Given the description of an element on the screen output the (x, y) to click on. 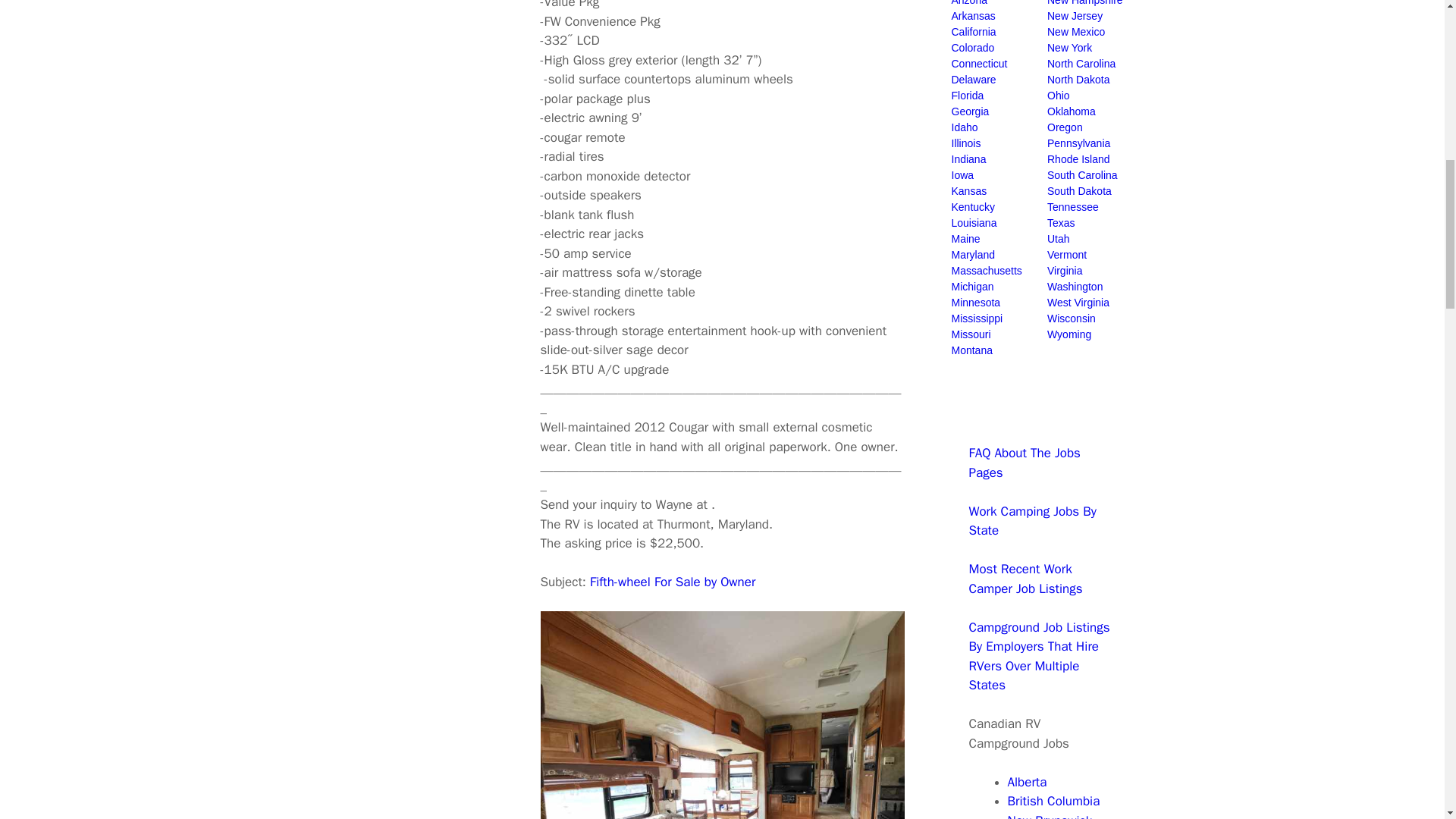
Fifth-wheel For Sale by Owner (672, 581)
2012 Keystone Cougar High Country 291 RLS Living Area (722, 714)
